Given the description of an element on the screen output the (x, y) to click on. 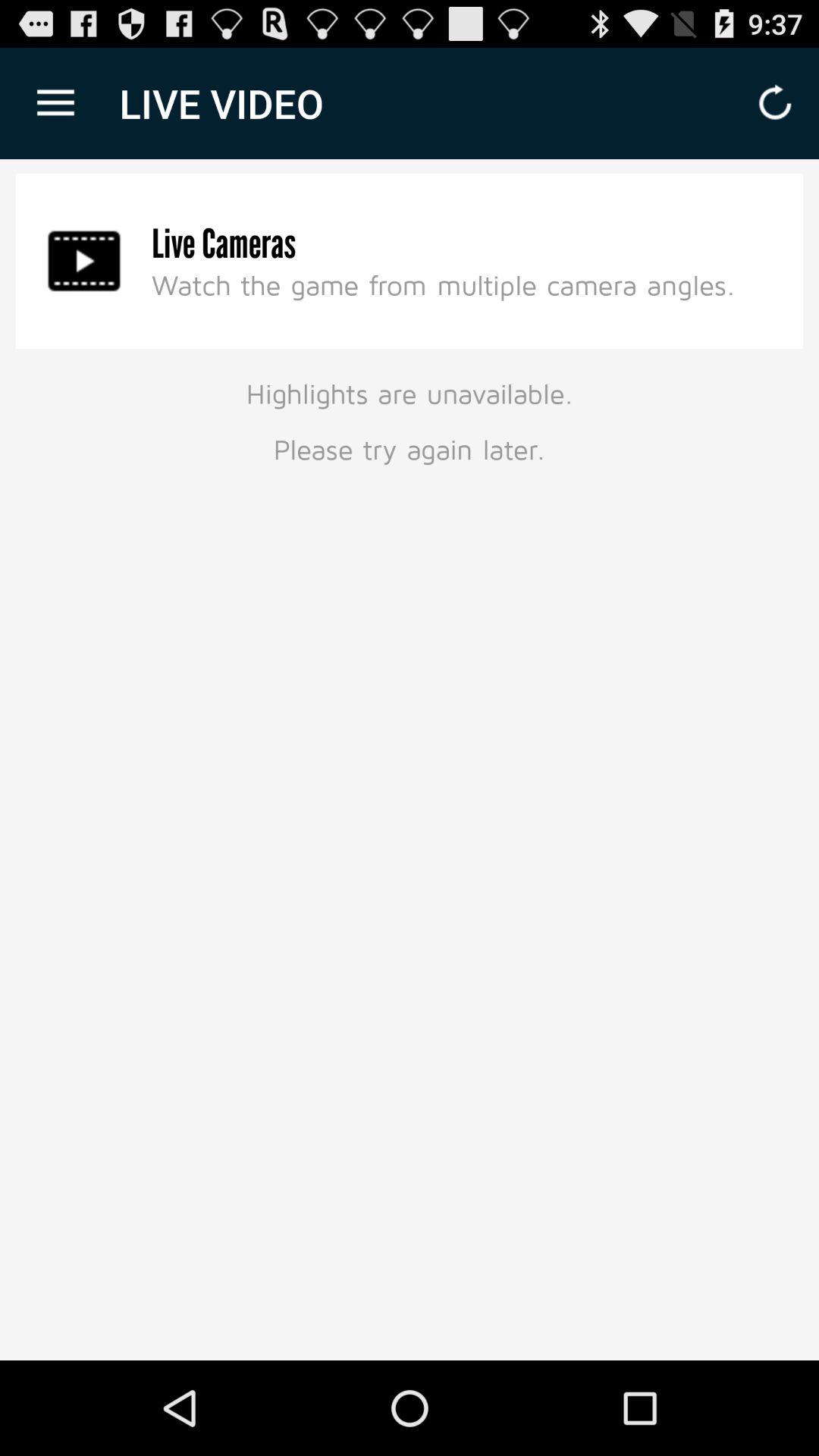
tap live cameras item (223, 243)
